Given the description of an element on the screen output the (x, y) to click on. 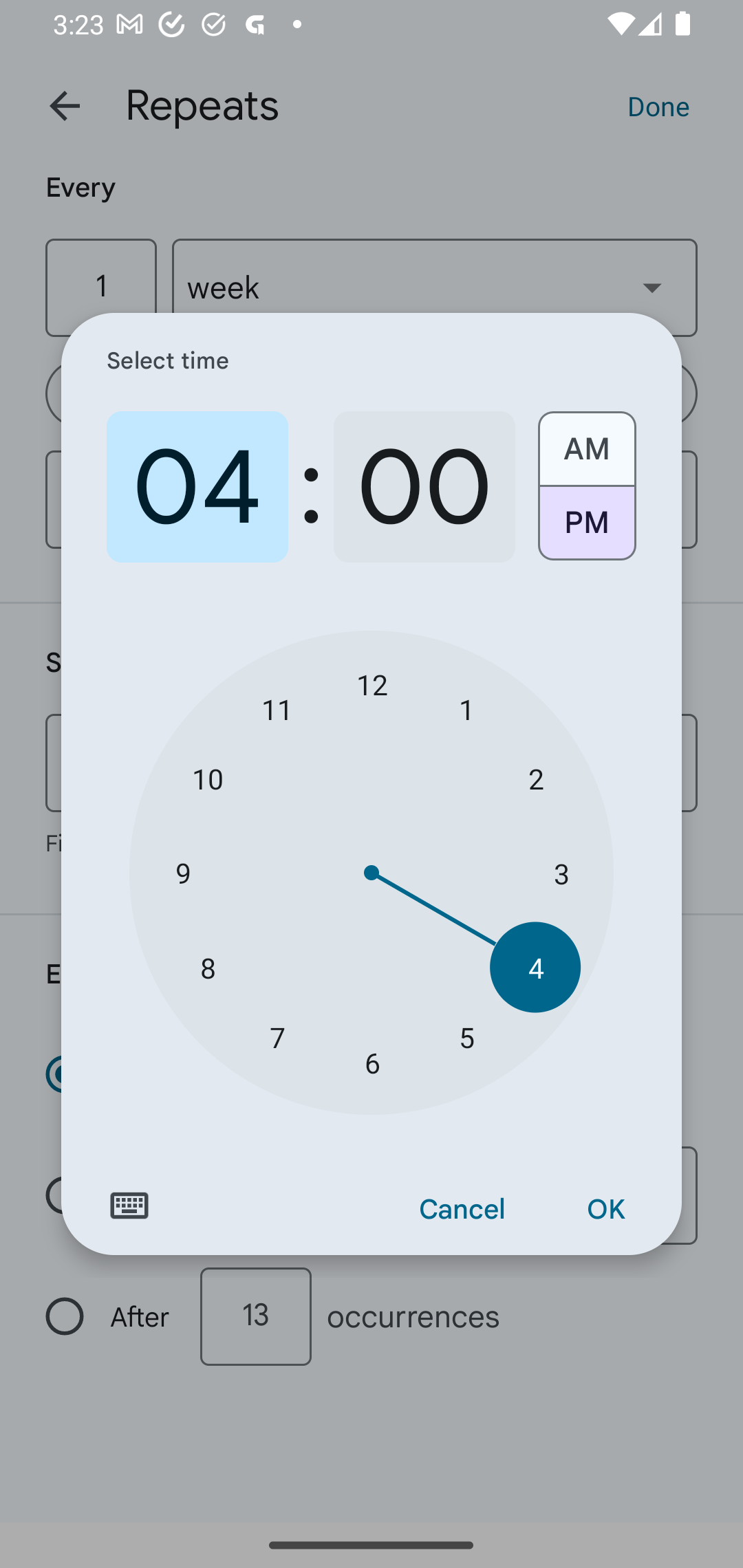
AM (586, 441)
04 4 o'clock (197, 486)
00 0 minutes (424, 486)
PM (586, 529)
12 12 o'clock (371, 683)
11 11 o'clock (276, 708)
1 1 o'clock (466, 708)
10 10 o'clock (207, 778)
2 2 o'clock (535, 778)
9 9 o'clock (182, 872)
3 3 o'clock (561, 872)
8 8 o'clock (207, 966)
4 4 o'clock (535, 966)
7 7 o'clock (276, 1035)
5 5 o'clock (466, 1035)
6 6 o'clock (371, 1062)
Switch to text input mode for the time input. (128, 1205)
Cancel (462, 1209)
OK (605, 1209)
